Given the description of an element on the screen output the (x, y) to click on. 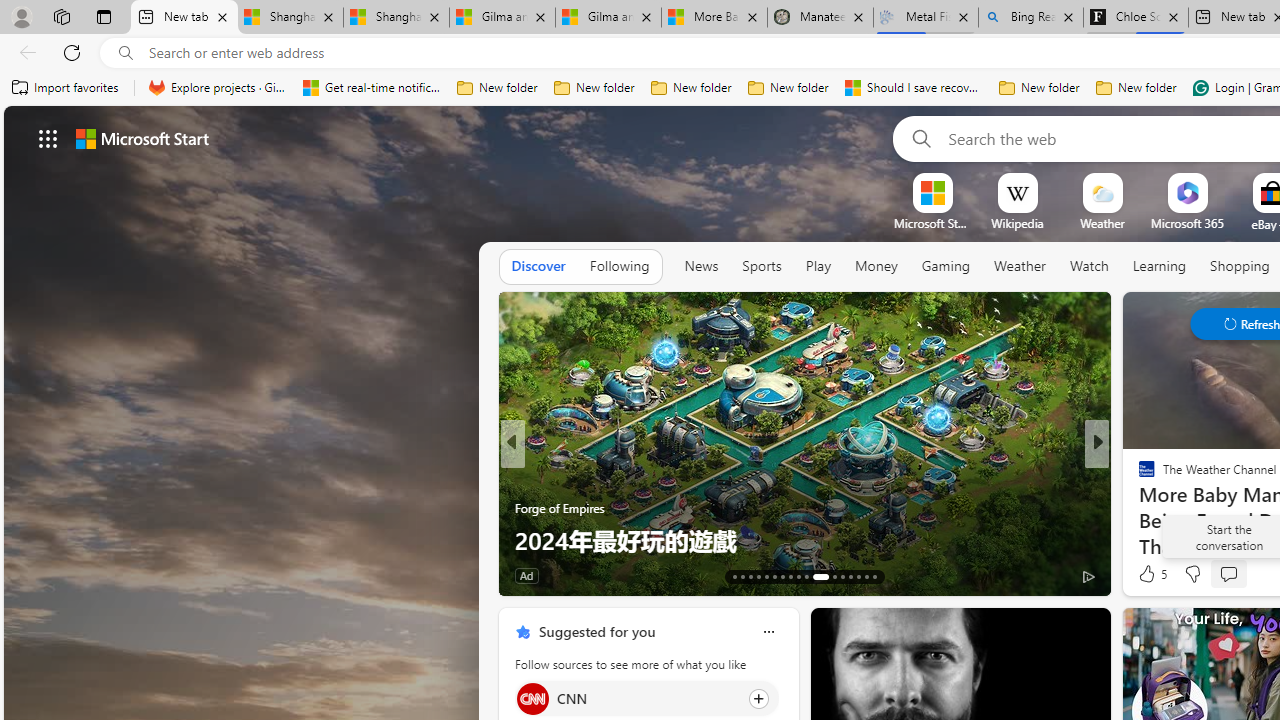
Bing Real Estate - Home sales and rental listings (1030, 17)
How to Survive (1138, 507)
Learning (1159, 265)
View comments 2 Comment (1234, 574)
Should I save recovered Word documents? - Microsoft Support (913, 88)
View comments 1 Comment (1229, 575)
Sports (761, 267)
To get missing image descriptions, open the context menu. (932, 192)
Manatee Mortality Statistics | FWC (820, 17)
News (701, 265)
AutomationID: tab-42 (874, 576)
